Given the description of an element on the screen output the (x, y) to click on. 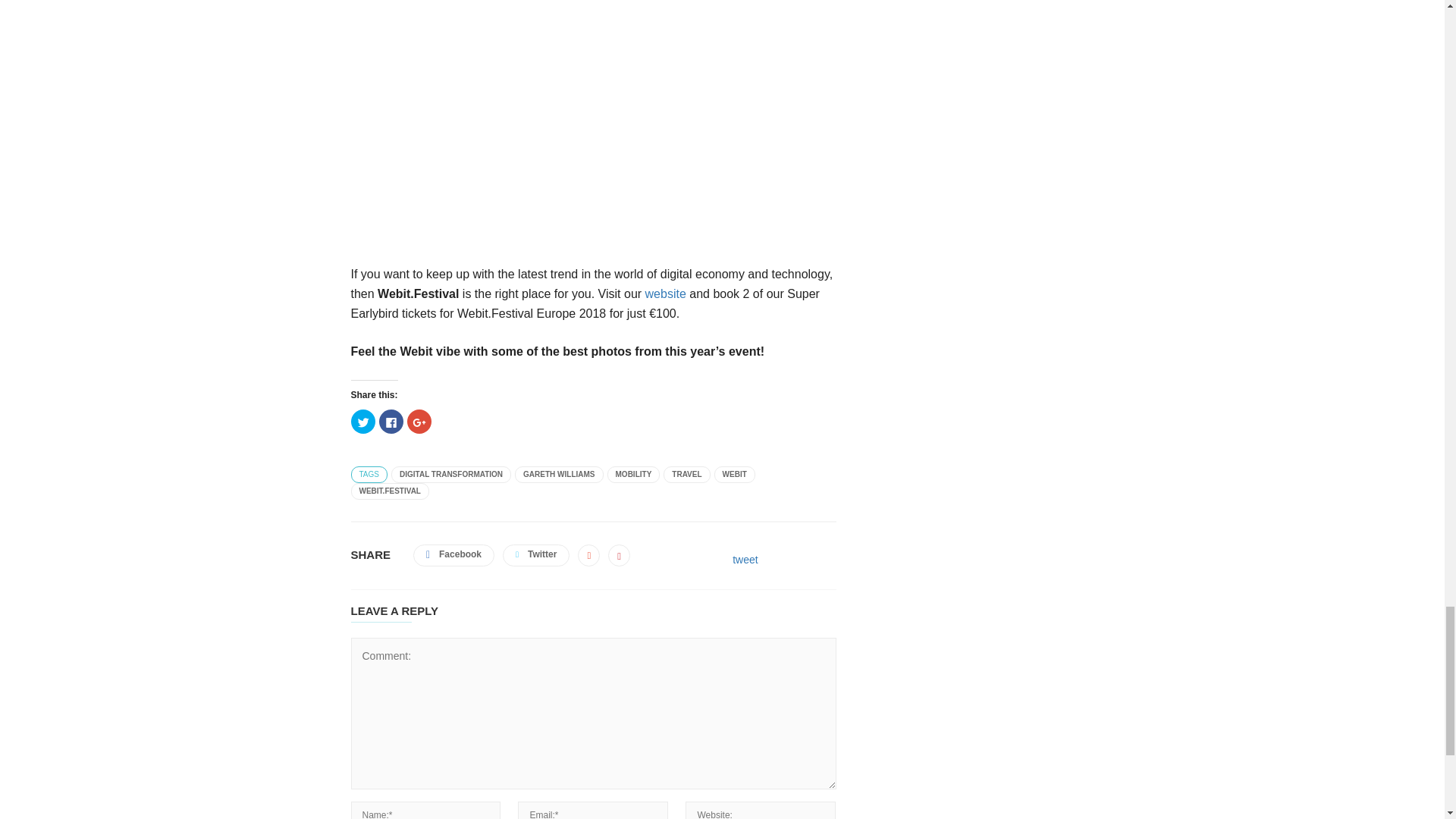
GARETH WILLIAMS (558, 474)
DIGITAL TRANSFORMATION (451, 474)
MOBILITY (634, 474)
website (665, 293)
